Given the description of an element on the screen output the (x, y) to click on. 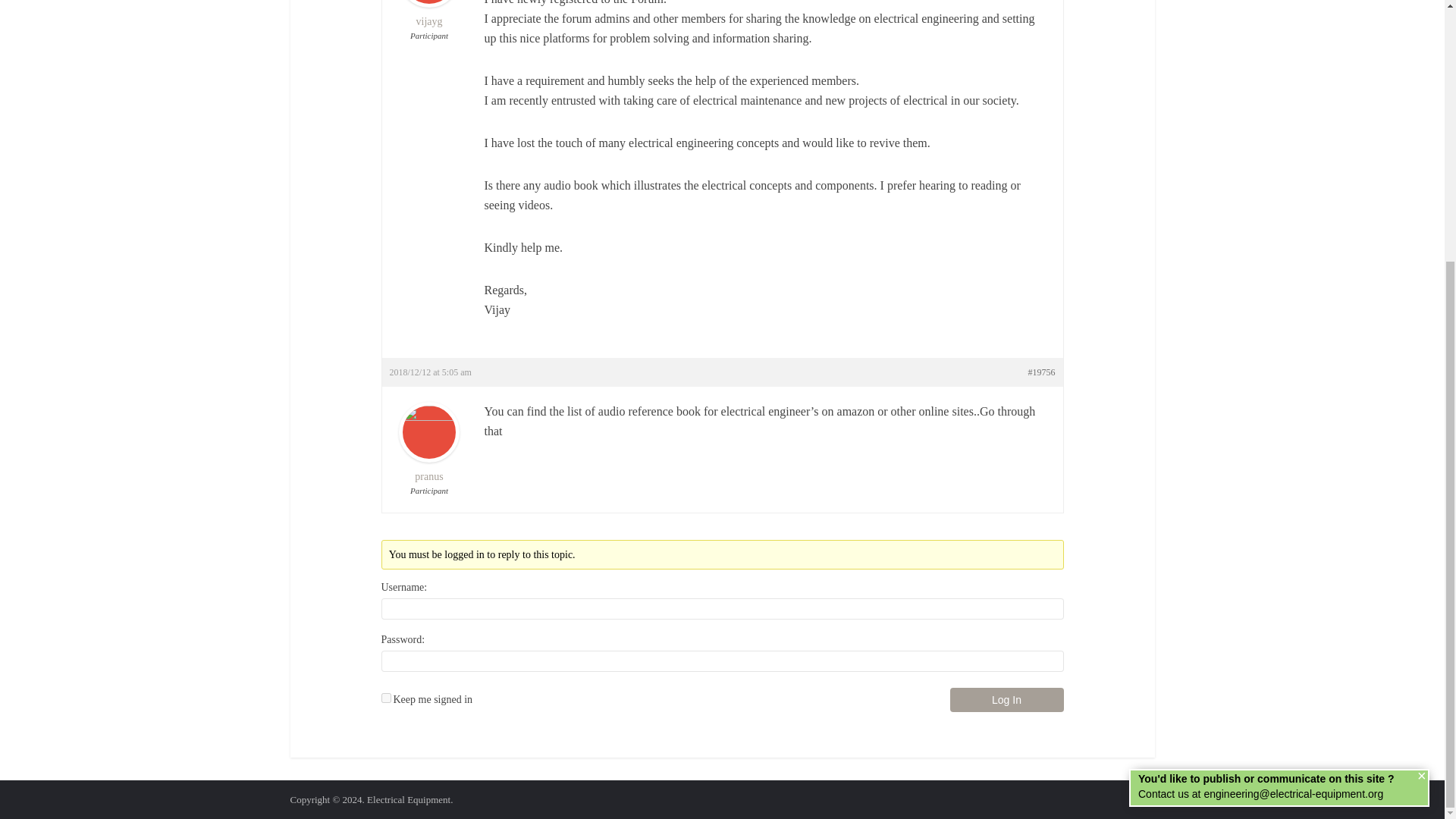
View vijayg's profile (429, 14)
View pranus's profile (429, 456)
forever (385, 697)
